Given the description of an element on the screen output the (x, y) to click on. 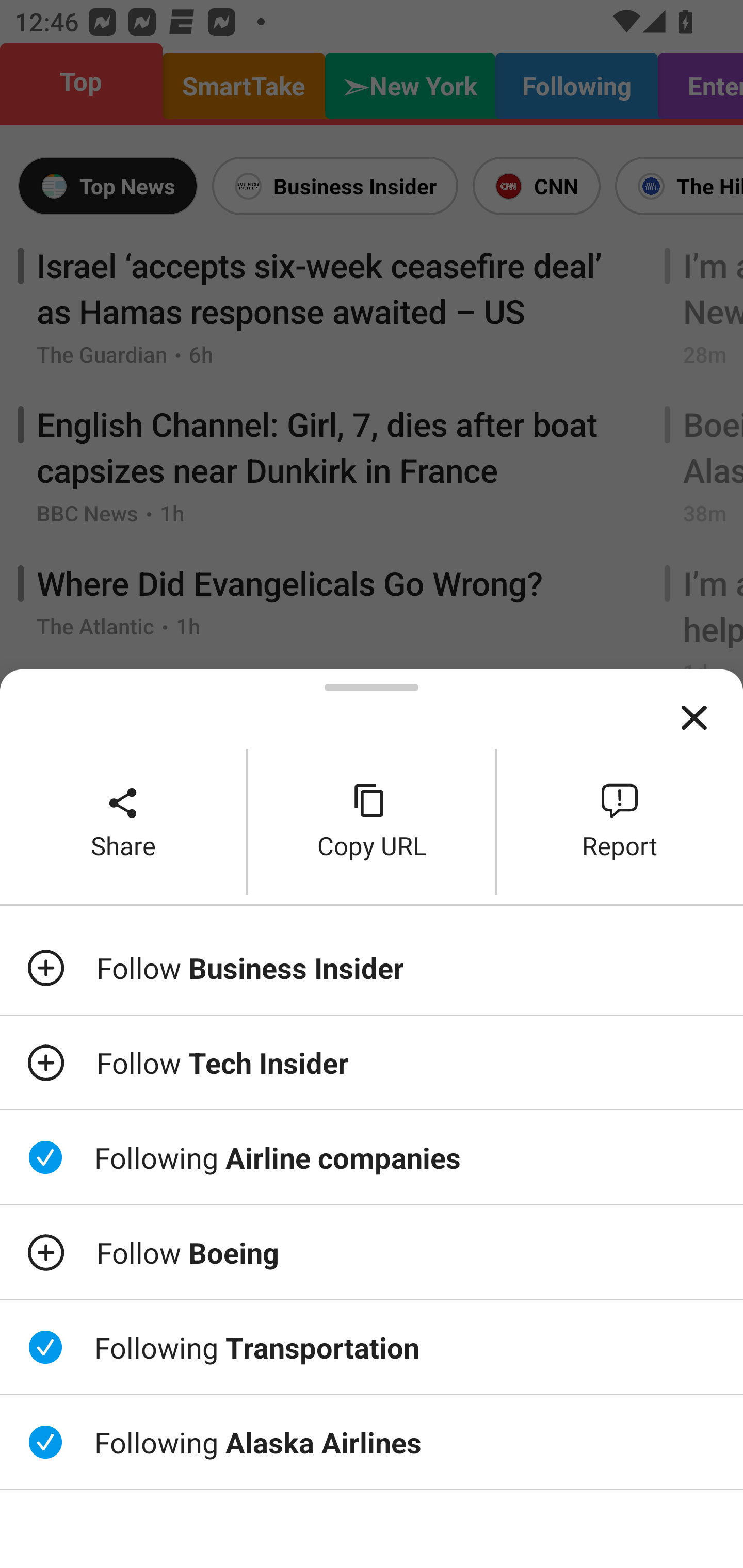
Close (694, 717)
Share (122, 822)
Copy URL (371, 822)
Report (620, 822)
Follow Business Insider (371, 967)
Follow Tech Insider (371, 1063)
Following Airline companies (371, 1157)
Follow Boeing (371, 1252)
Following Transportation (371, 1346)
Following Alaska Airlines (371, 1442)
